Given the description of an element on the screen output the (x, y) to click on. 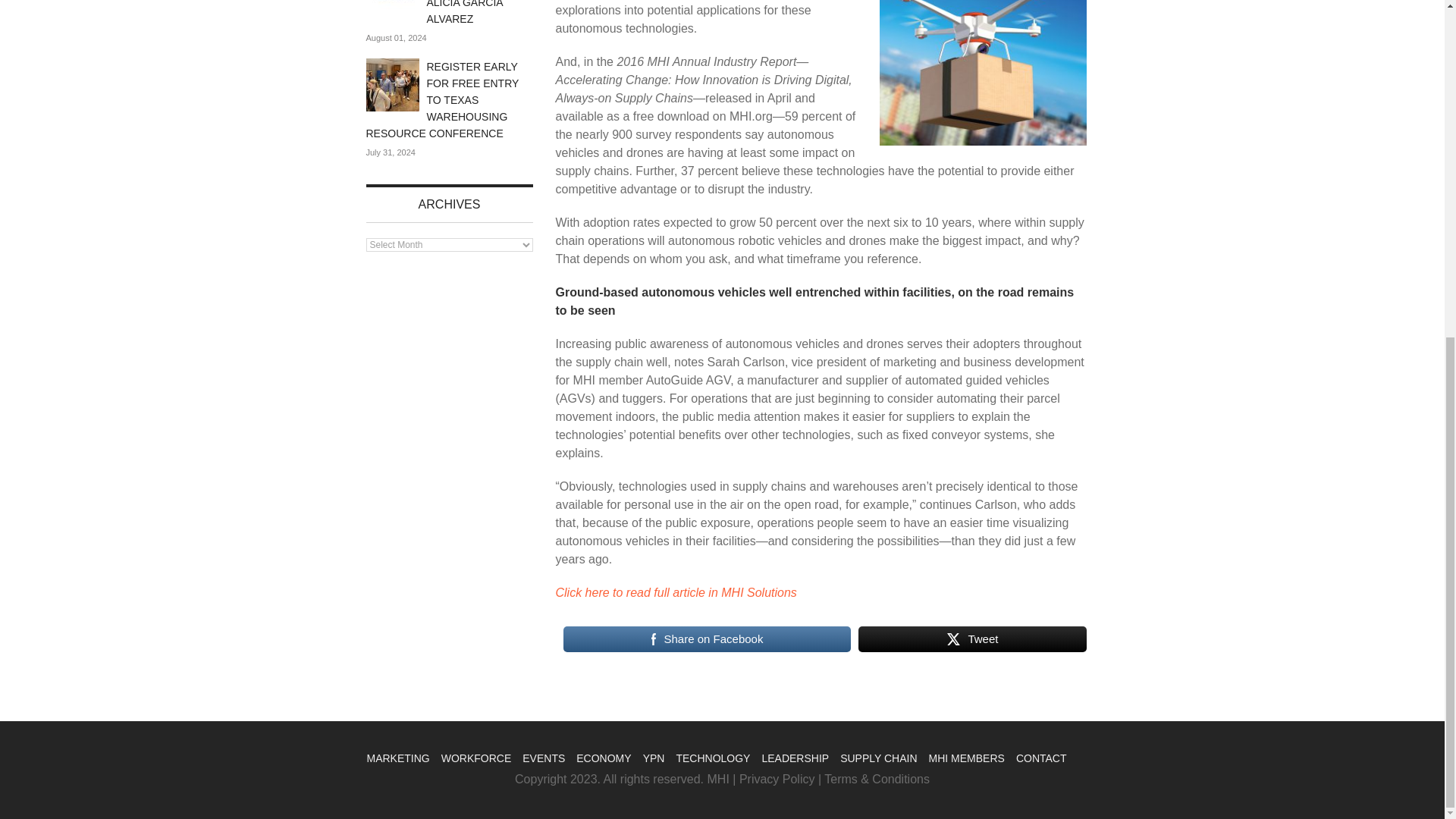
YPN (654, 757)
ECONOMY (603, 757)
LEADERSHIP (794, 757)
Share on Facebook (706, 638)
Tweet (972, 638)
MHI MEMBERS (966, 757)
SUPPLY CHAIN (878, 757)
TECHNOLOGY (712, 757)
EVENTS (543, 757)
